Given the description of an element on the screen output the (x, y) to click on. 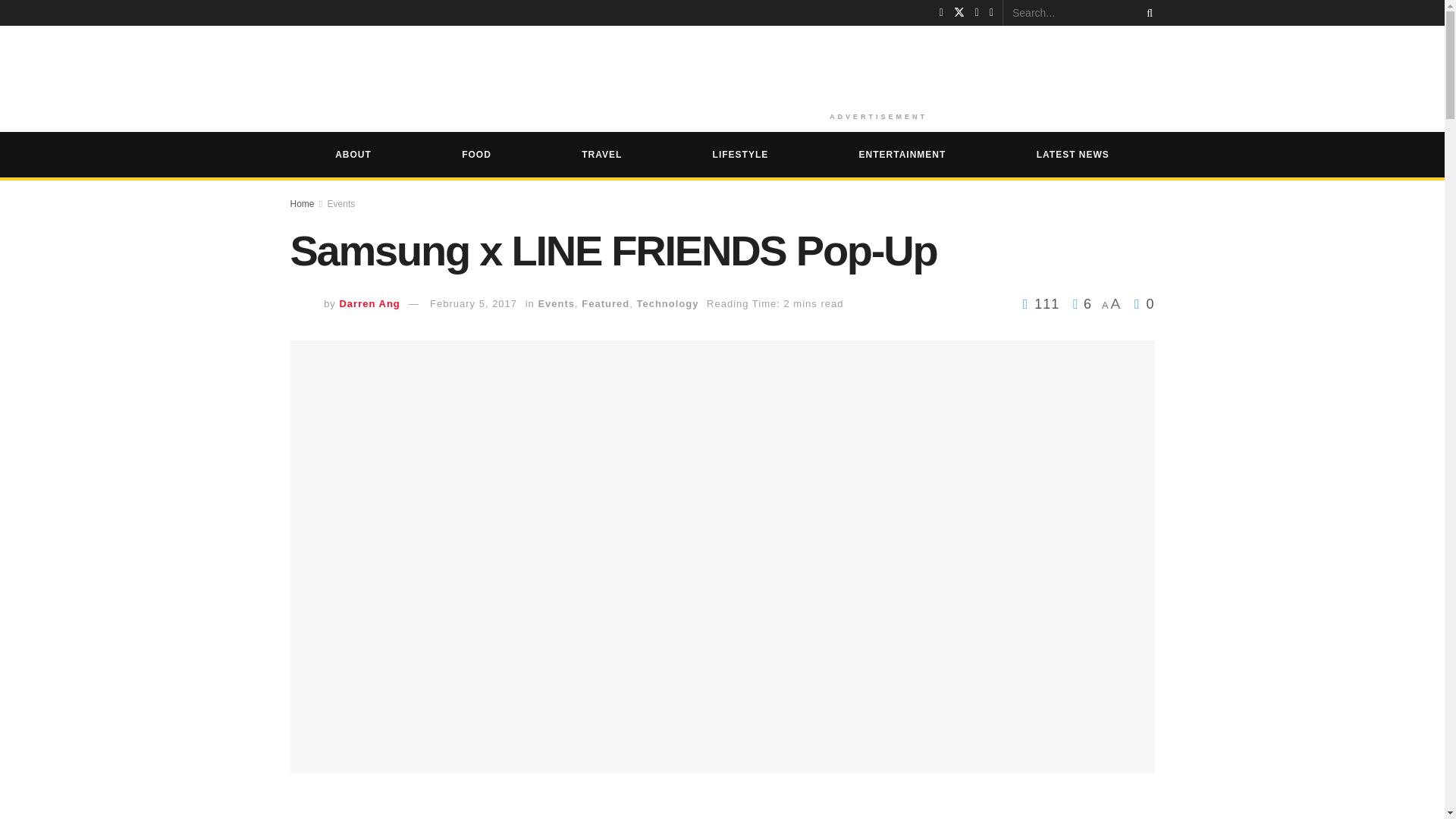
TRAVEL (601, 154)
Events (341, 204)
Home (301, 204)
Technology (667, 303)
Featured (604, 303)
6 (1078, 304)
FOOD (476, 154)
ENTERTAINMENT (902, 154)
111 (1043, 304)
ABOUT (352, 154)
